Given the description of an element on the screen output the (x, y) to click on. 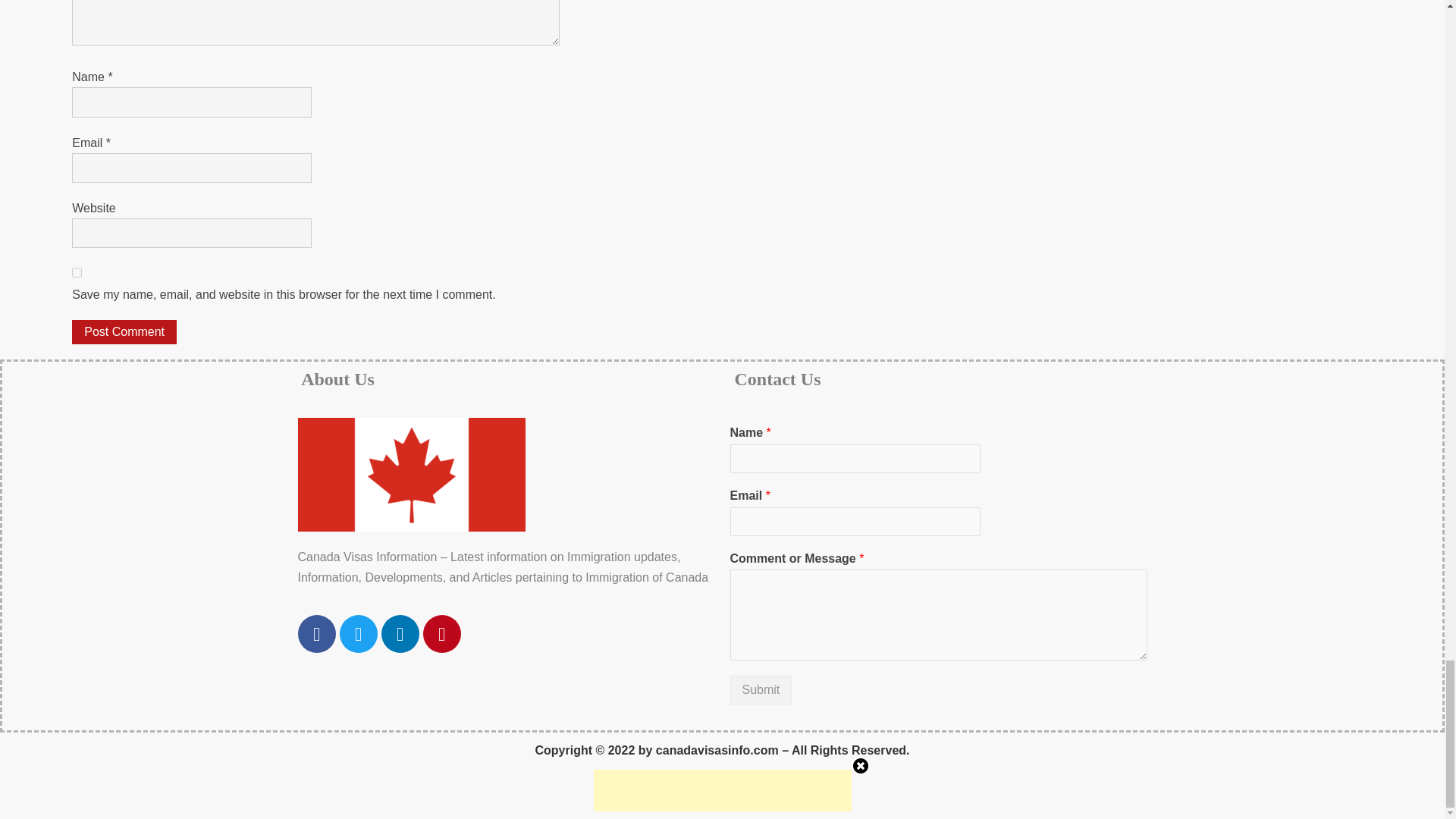
Post Comment (123, 331)
yes (76, 272)
